Given the description of an element on the screen output the (x, y) to click on. 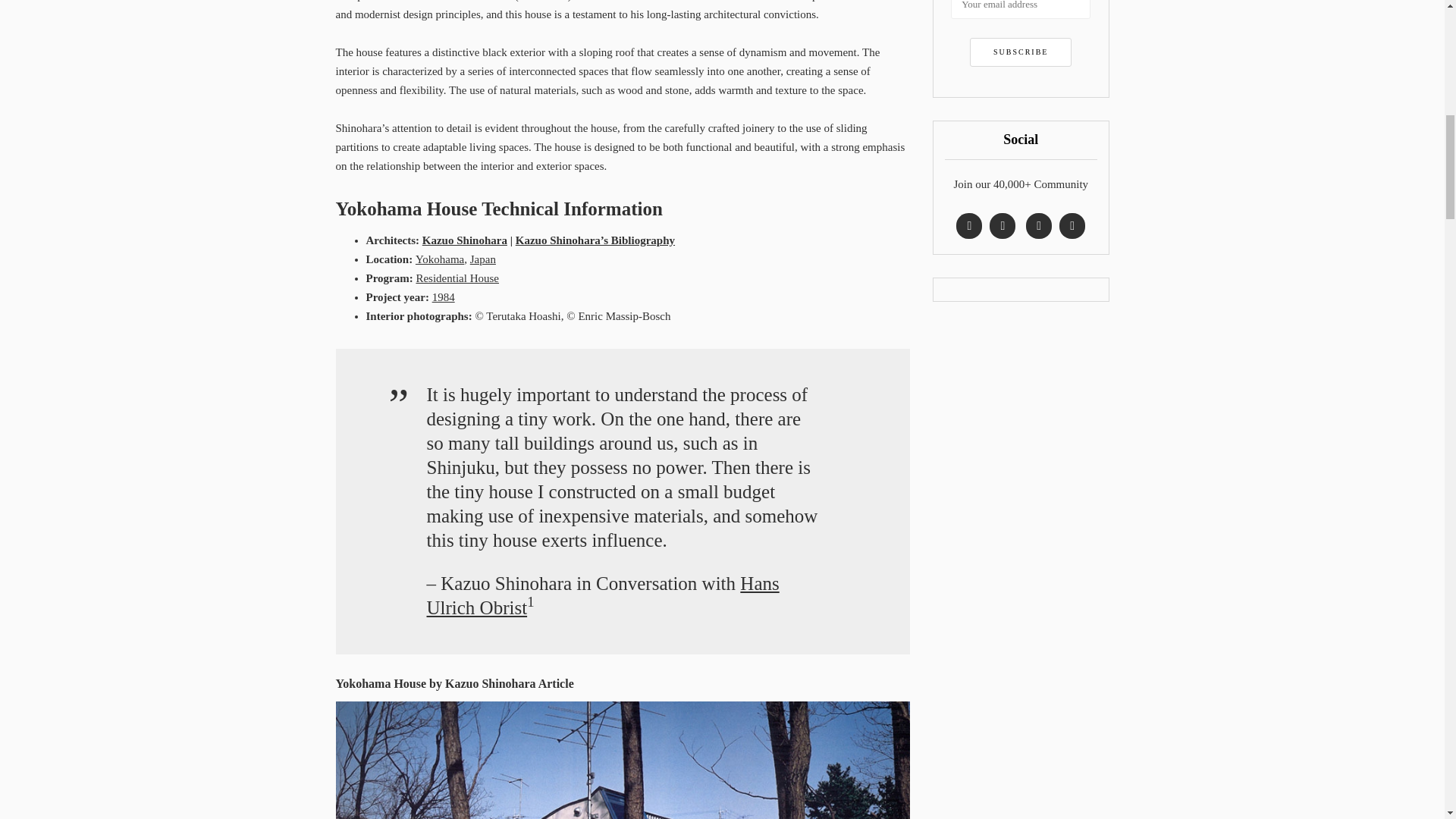
Subscribe (1020, 51)
